Given the description of an element on the screen output the (x, y) to click on. 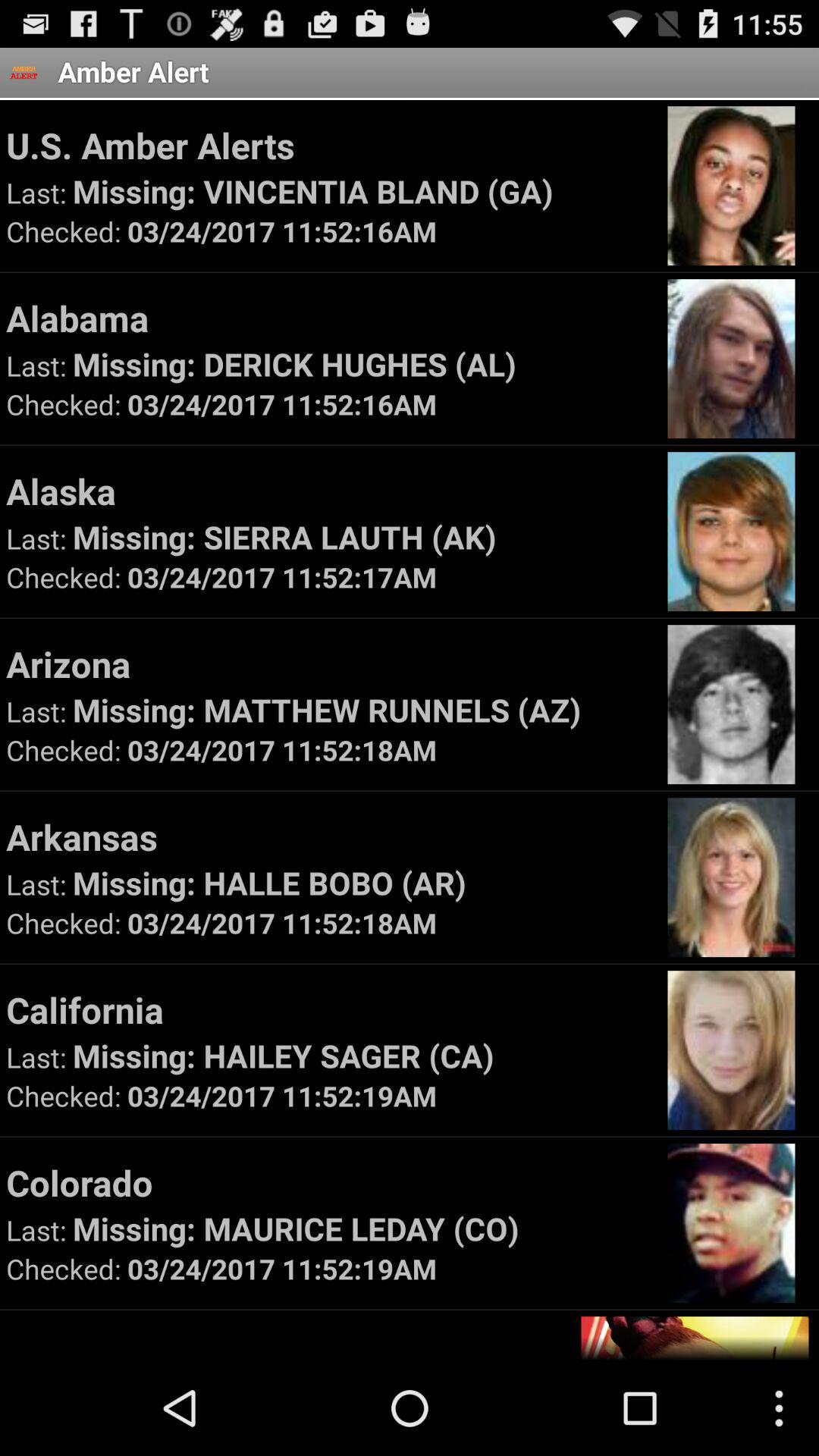
scroll until the alabama icon (329, 318)
